Given the description of an element on the screen output the (x, y) to click on. 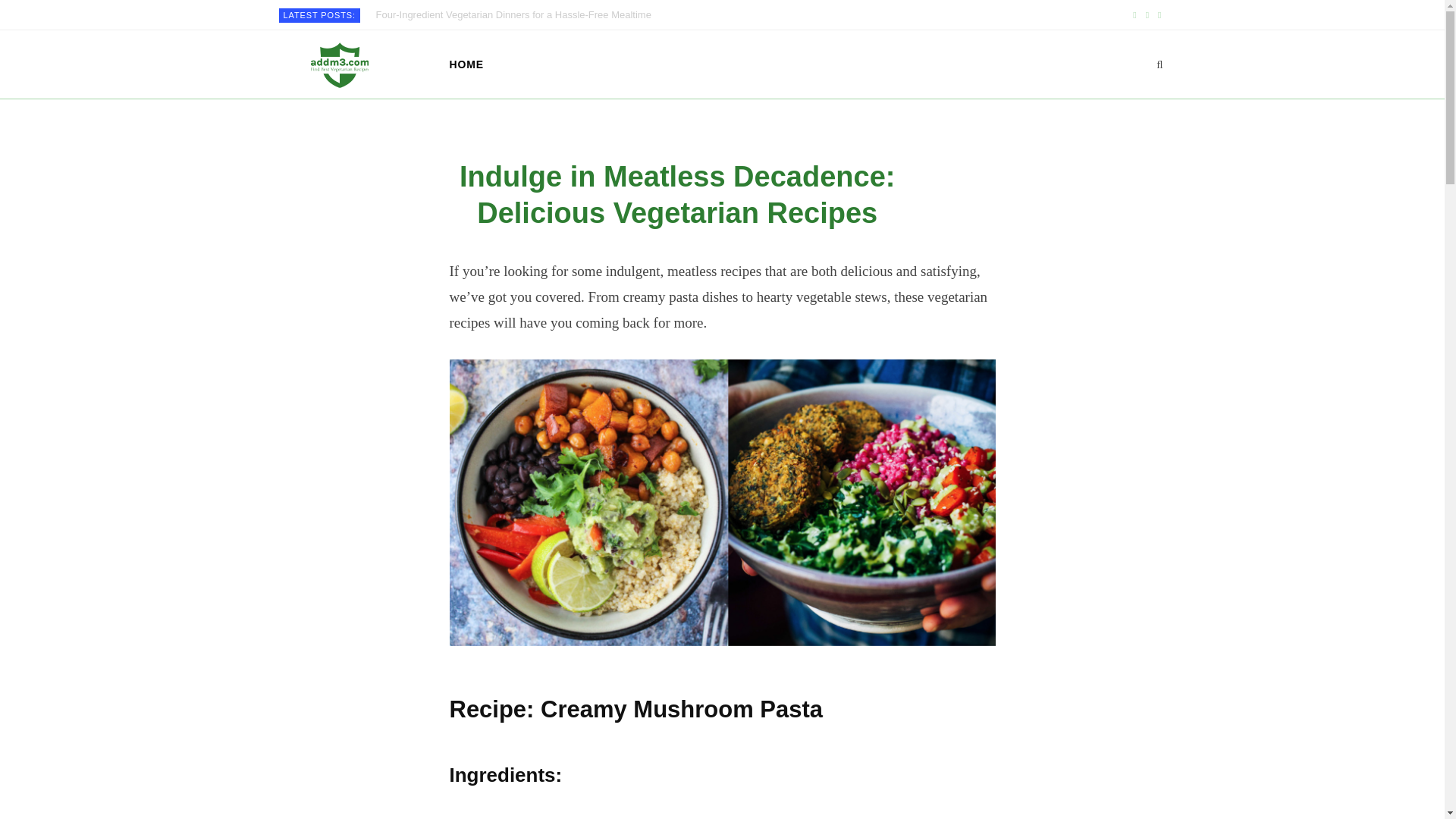
Twitter (1147, 15)
Search (1159, 64)
Instagram (1159, 15)
Facebook (1134, 15)
HOME (466, 64)
AddM3 (338, 64)
